Given the description of an element on the screen output the (x, y) to click on. 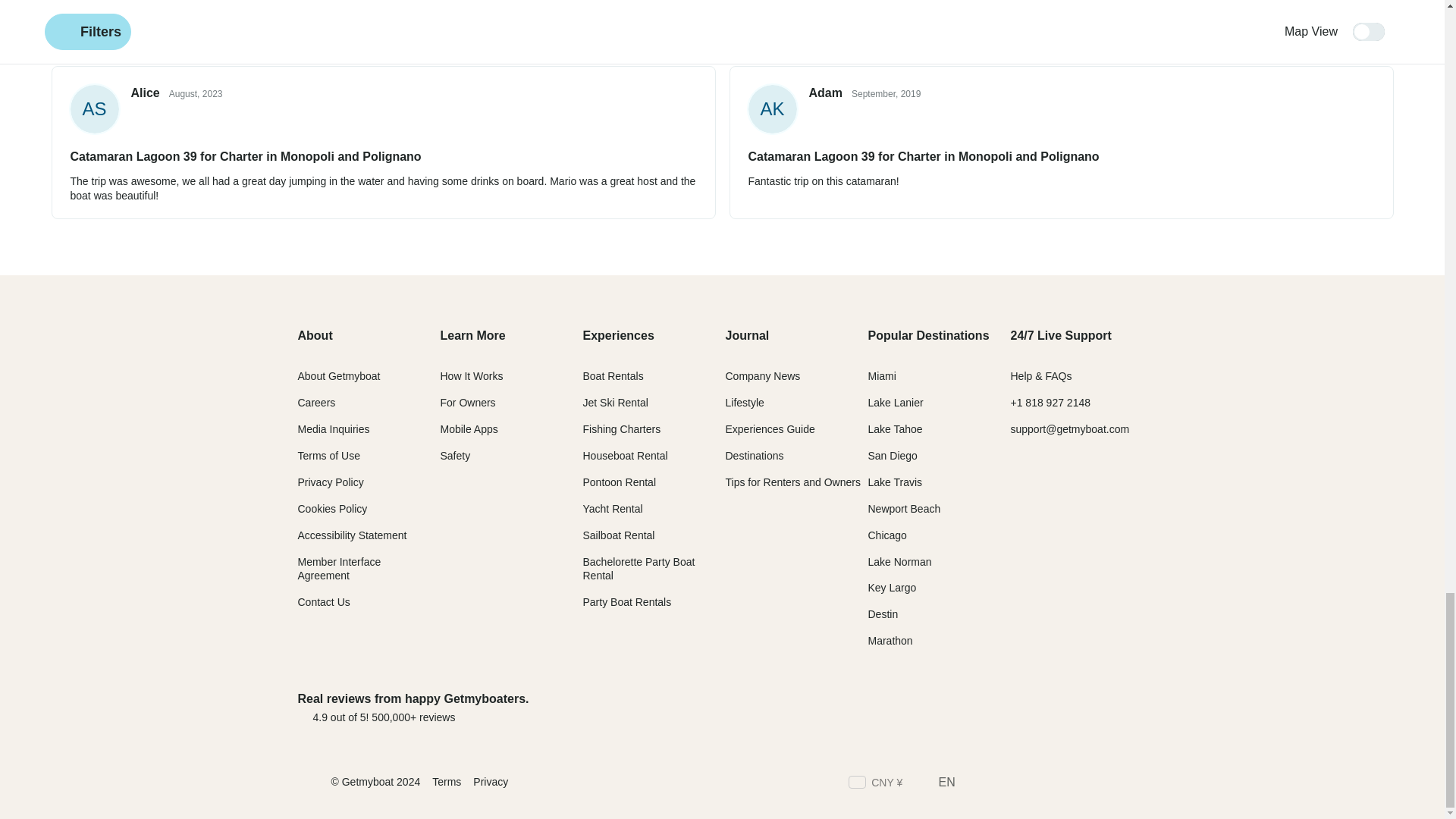
Facebook (975, 784)
Twitter (1002, 784)
Download on the App Store (977, 707)
Pinterest (1111, 784)
YouTube (1139, 784)
LinkedIn (1056, 784)
Get it on Google Play (1096, 707)
TikTok (1084, 784)
Instagram (1029, 784)
